Given the description of an element on the screen output the (x, y) to click on. 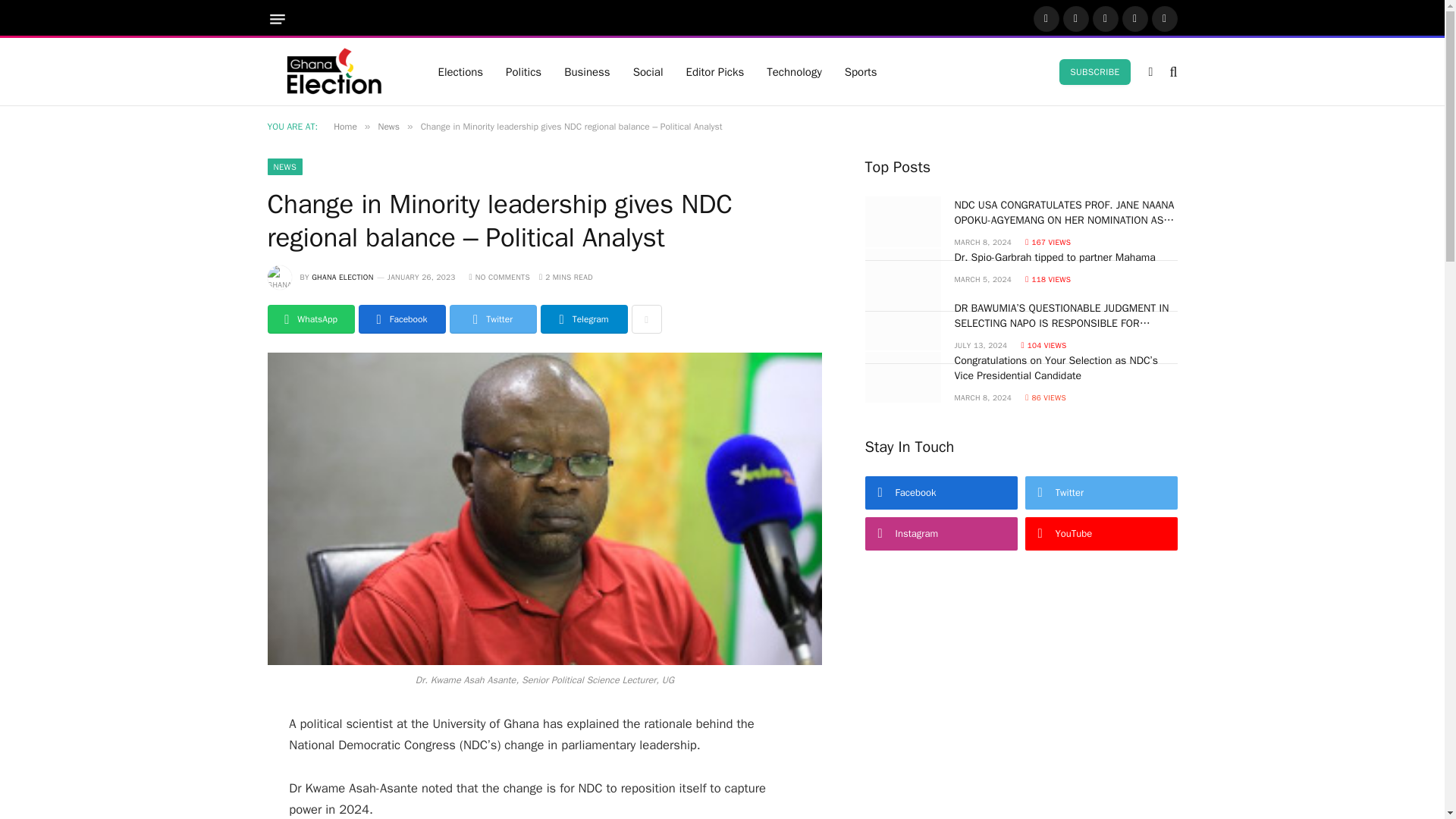
Instagram (1105, 18)
Ghana Elections (332, 71)
Editor Picks (715, 71)
Share on WhatsApp (309, 318)
Switch to Dark Design - easier on eyes. (1150, 70)
SUBSCRIBE (1094, 71)
Facebook (1045, 18)
Business (587, 71)
Technology (793, 71)
Posts by Ghana Election (341, 276)
Pinterest (1135, 18)
Elections (460, 71)
Vimeo (1163, 18)
Share on Facebook (401, 318)
